Given the description of an element on the screen output the (x, y) to click on. 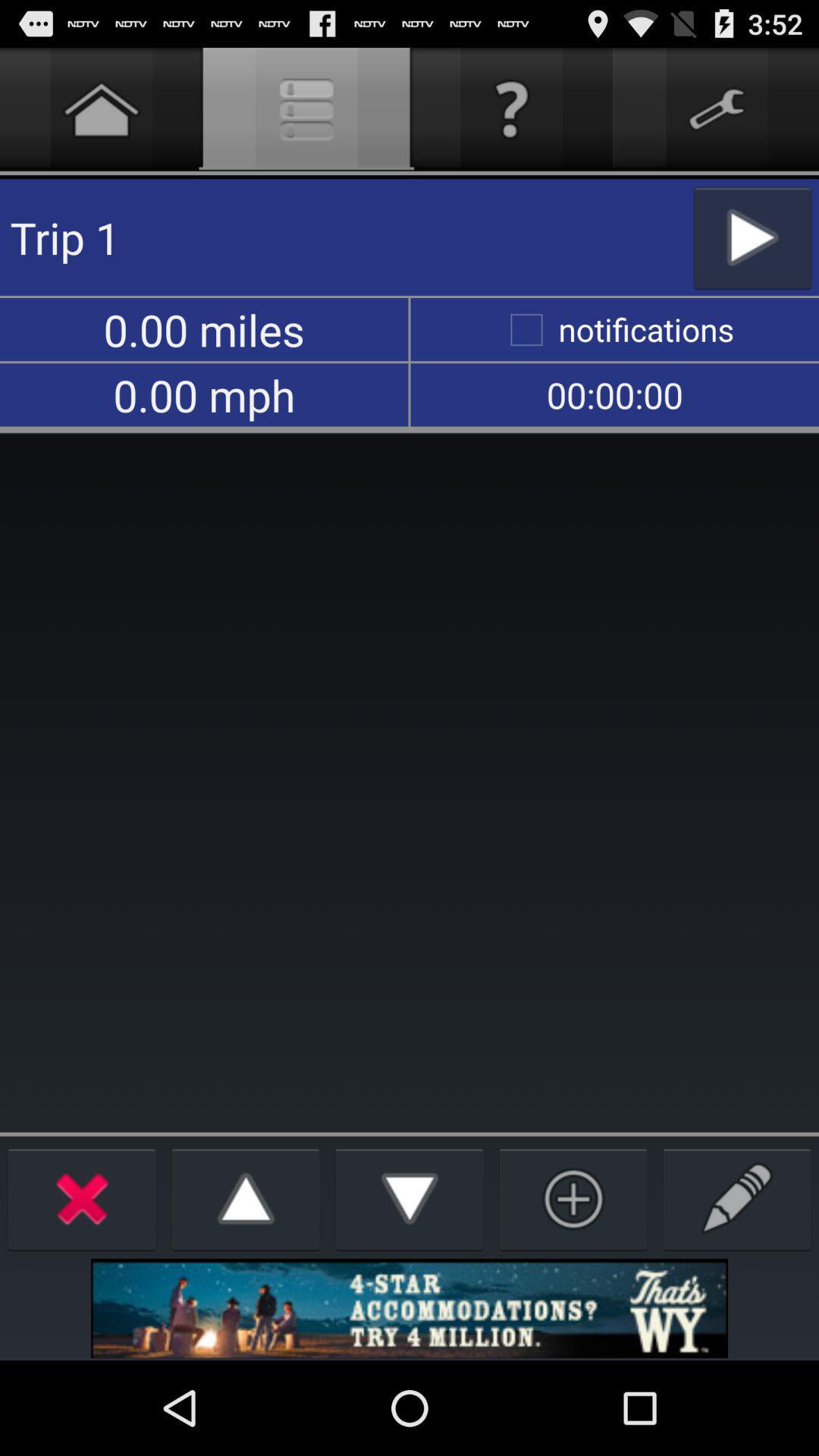
move down list (409, 1198)
